Given the description of an element on the screen output the (x, y) to click on. 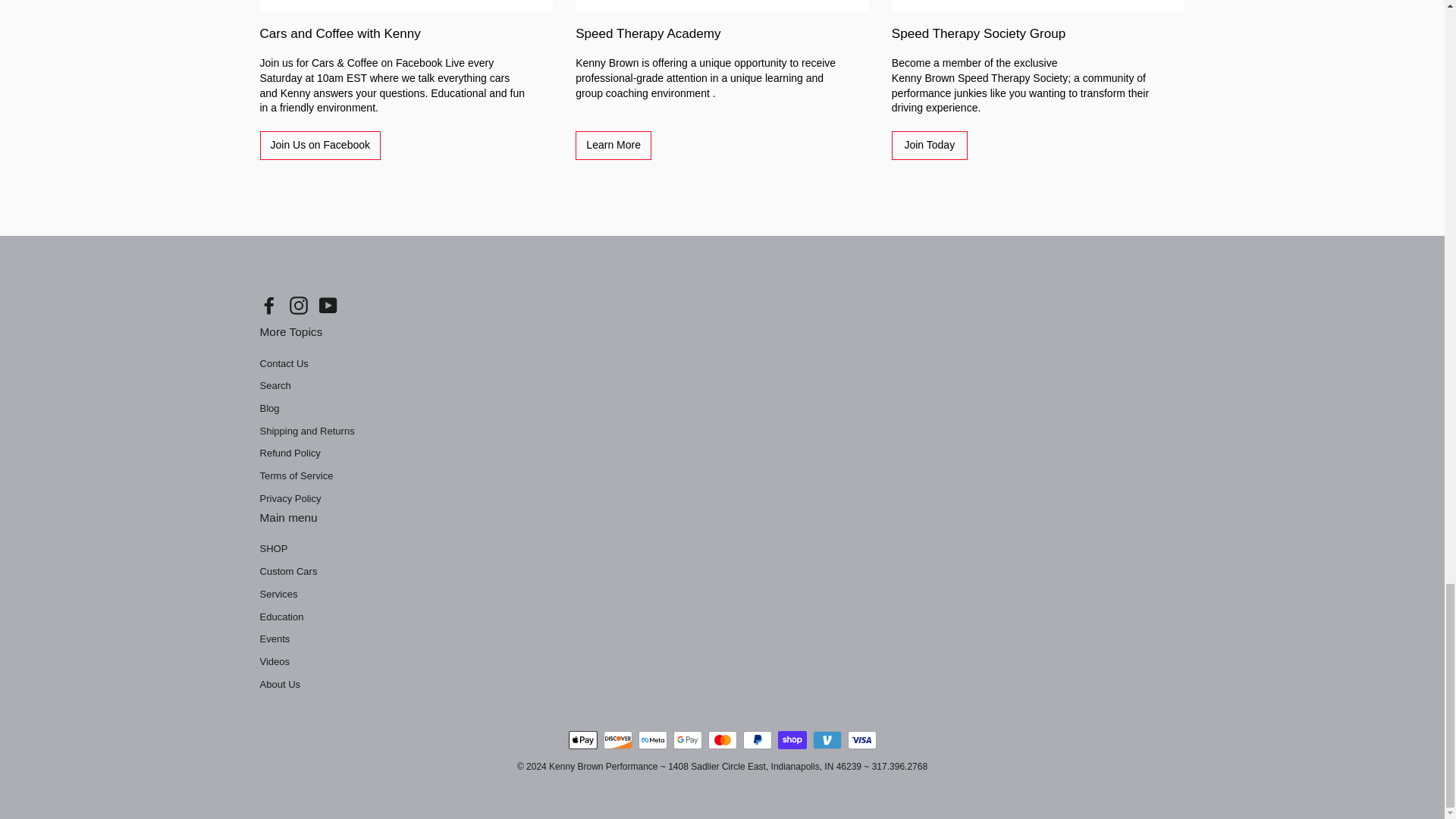
Kenny Brown Performance on YouTube (327, 305)
Kenny Brown Performance on Instagram (298, 305)
Kenny Brown Performance on Facebook (268, 305)
